Given the description of an element on the screen output the (x, y) to click on. 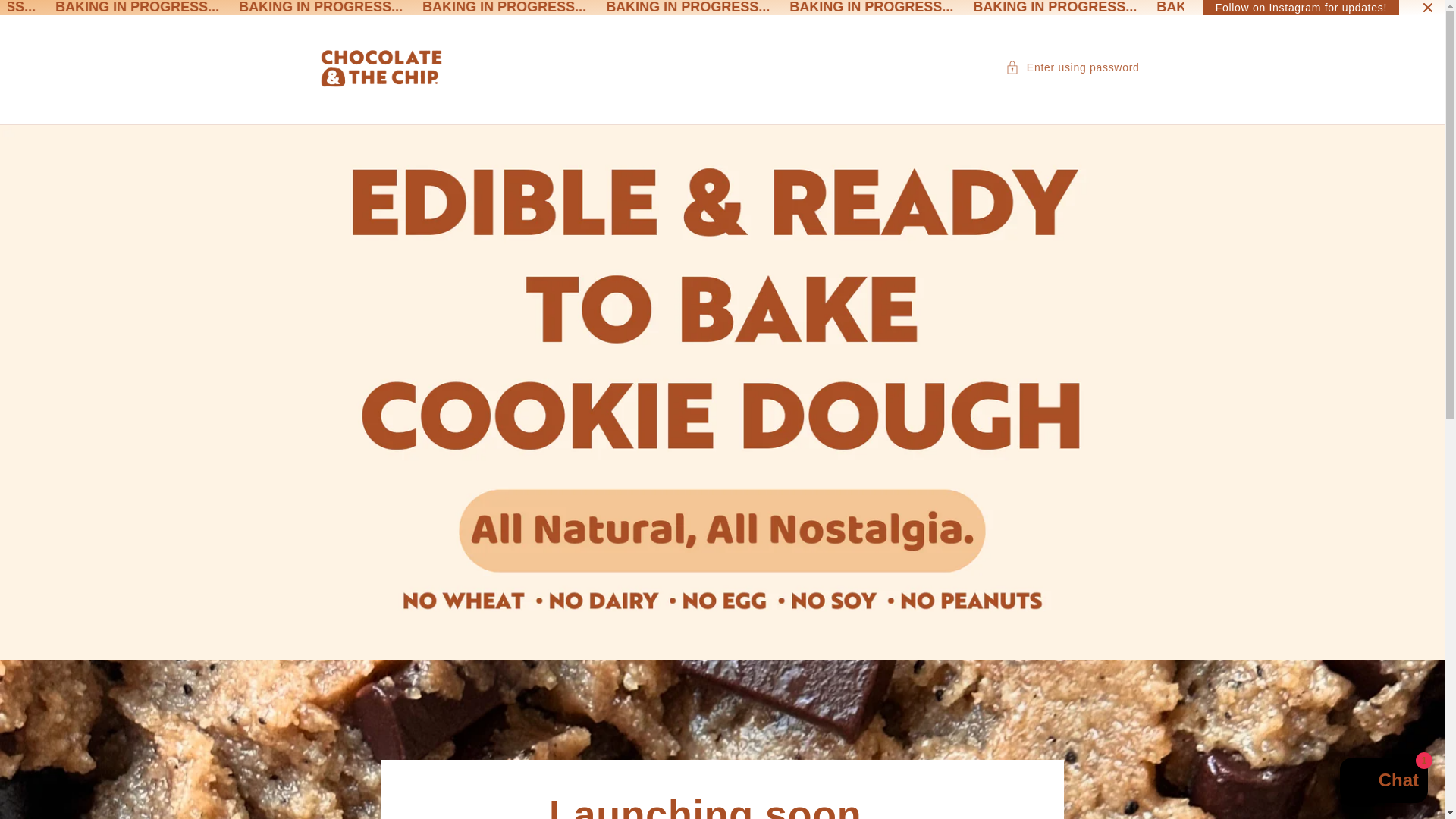
Follow on Instagram for updates! (1301, 11)
Skip to content (45, 17)
Shopify online store chat (1383, 781)
